Given the description of an element on the screen output the (x, y) to click on. 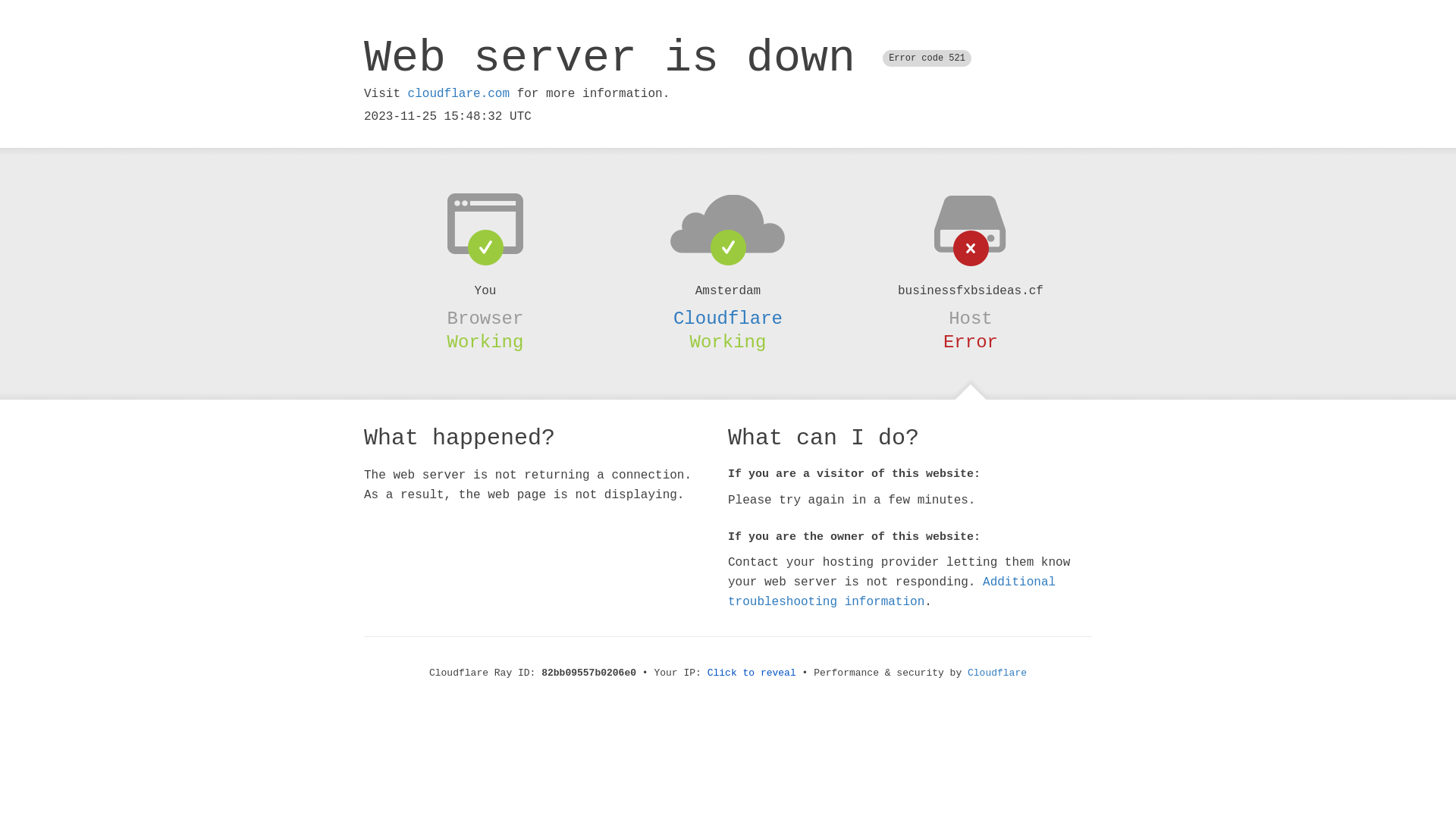
Additional troubleshooting information Element type: text (891, 591)
Cloudflare Element type: text (727, 318)
Click to reveal Element type: text (751, 672)
cloudflare.com Element type: text (458, 93)
Cloudflare Element type: text (996, 672)
